Given the description of an element on the screen output the (x, y) to click on. 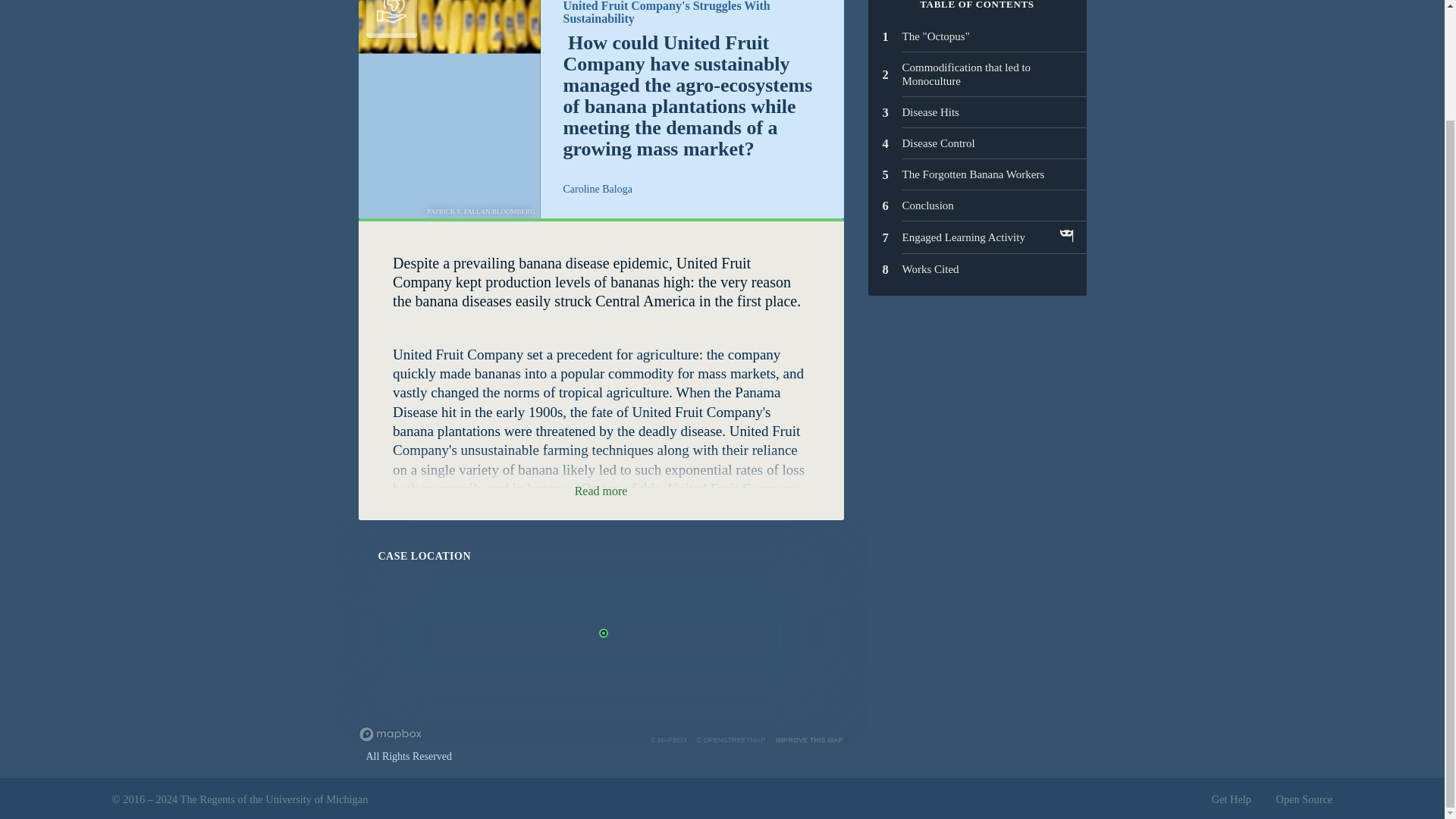
Mapbox (668, 739)
Shared Cases (976, 236)
Get Help (976, 111)
Open Source (390, 18)
Read more (976, 36)
IMPROVE THIS MAP (1230, 799)
OpenStreetMap (976, 173)
All Rights Reserved (1303, 799)
Improve this map (976, 204)
